Given the description of an element on the screen output the (x, y) to click on. 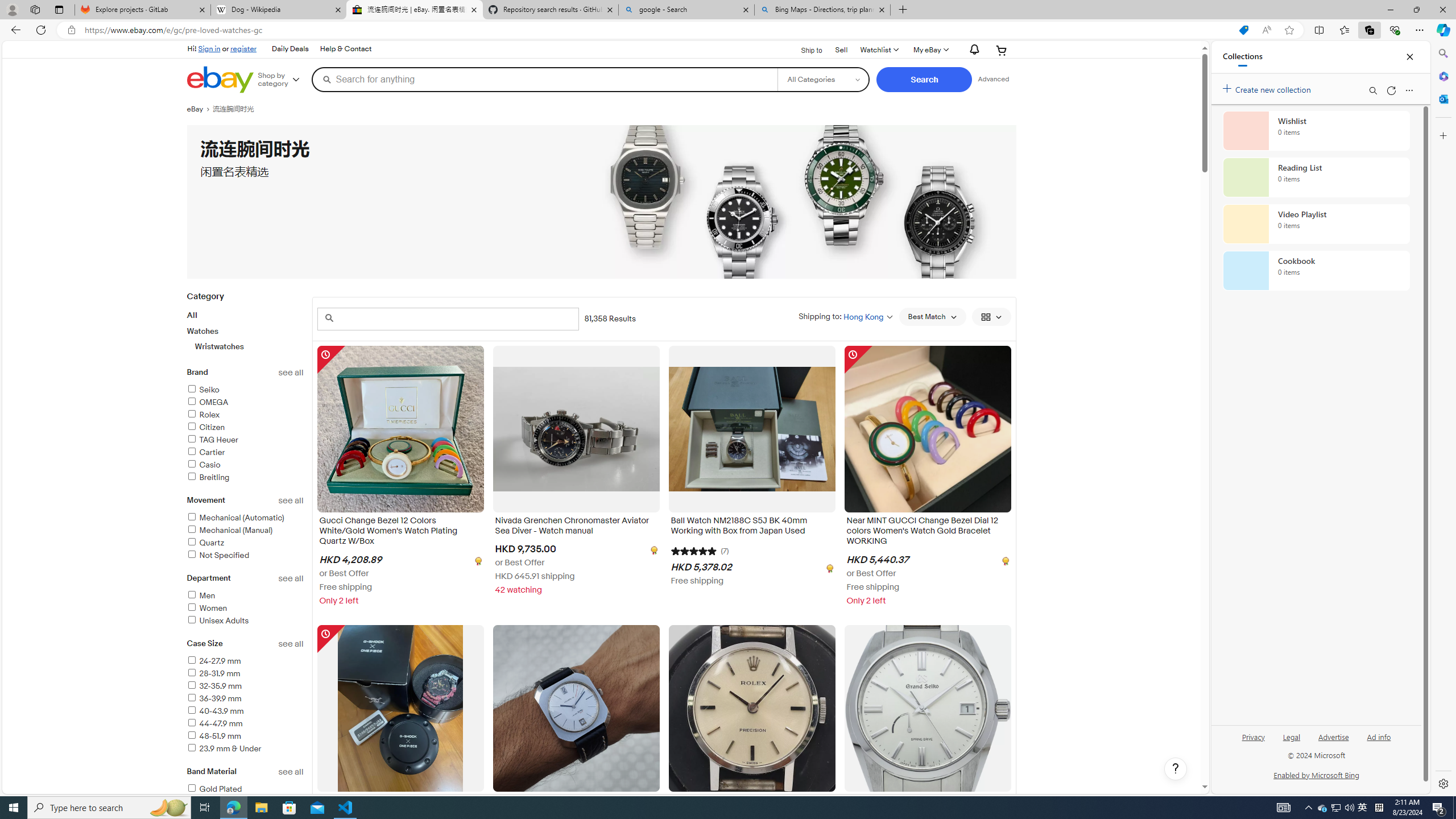
My eBay (930, 49)
Mechanical (Automatic) (245, 518)
eBay (199, 108)
Daily Deals (290, 49)
Cartier (245, 452)
Cartier (205, 452)
28-31.9 mm (245, 674)
Shop by category (282, 79)
Enter your search keyword (448, 318)
